Given the description of an element on the screen output the (x, y) to click on. 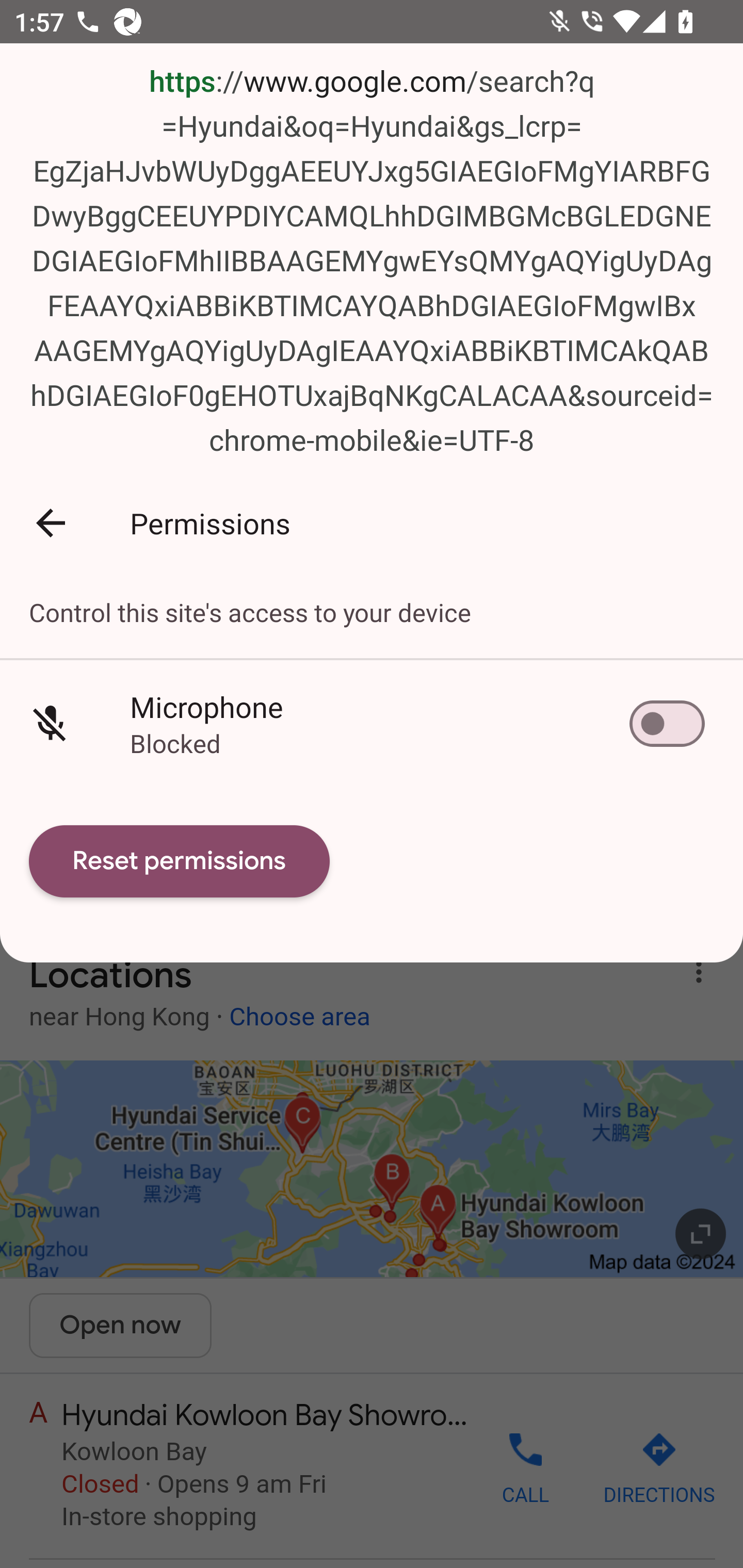
Back (50, 522)
Microphone Blocked (371, 723)
Reset permissions (178, 861)
